Given the description of an element on the screen output the (x, y) to click on. 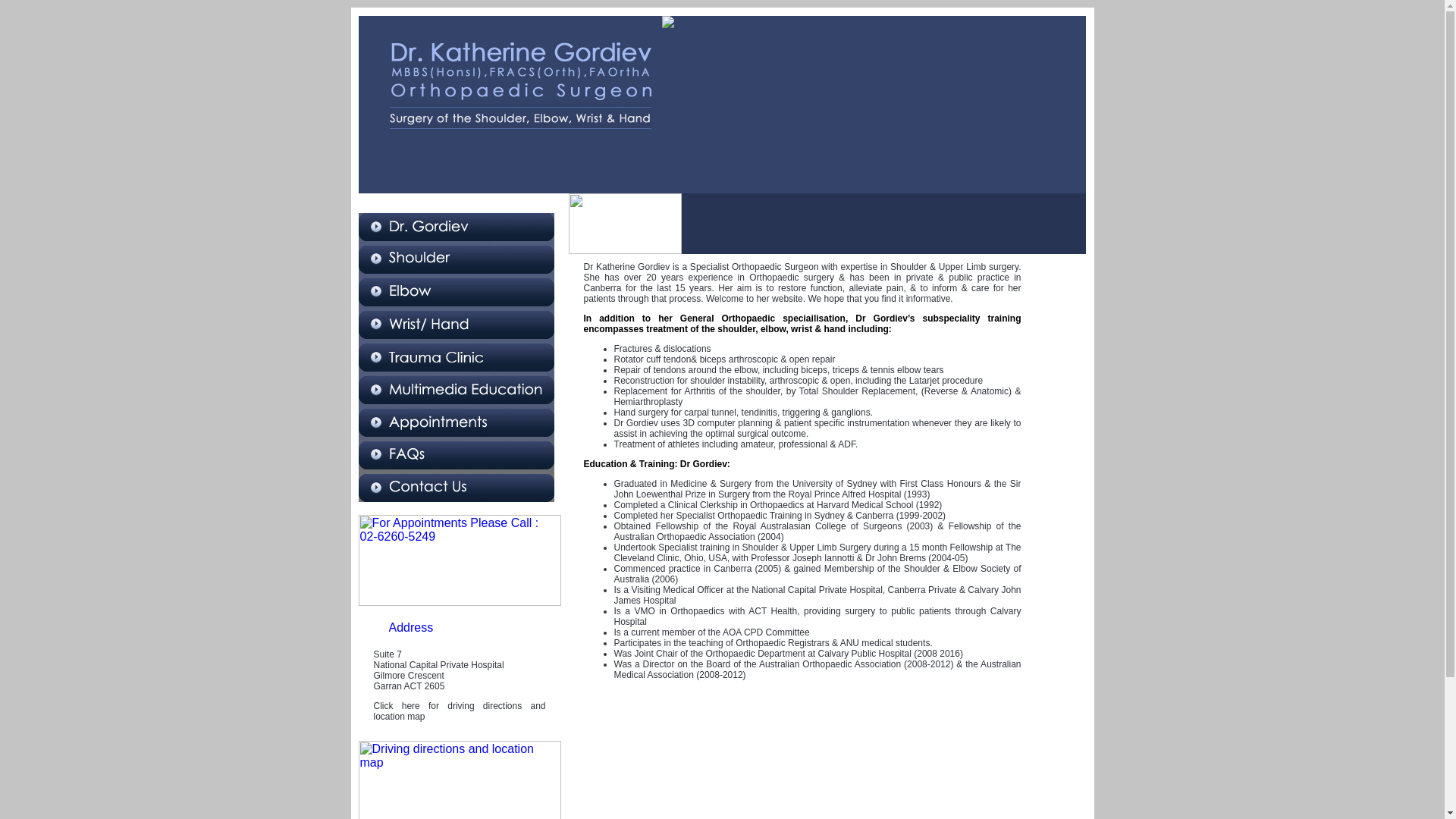
Click here Element type: text (396, 705)
